Given the description of an element on the screen output the (x, y) to click on. 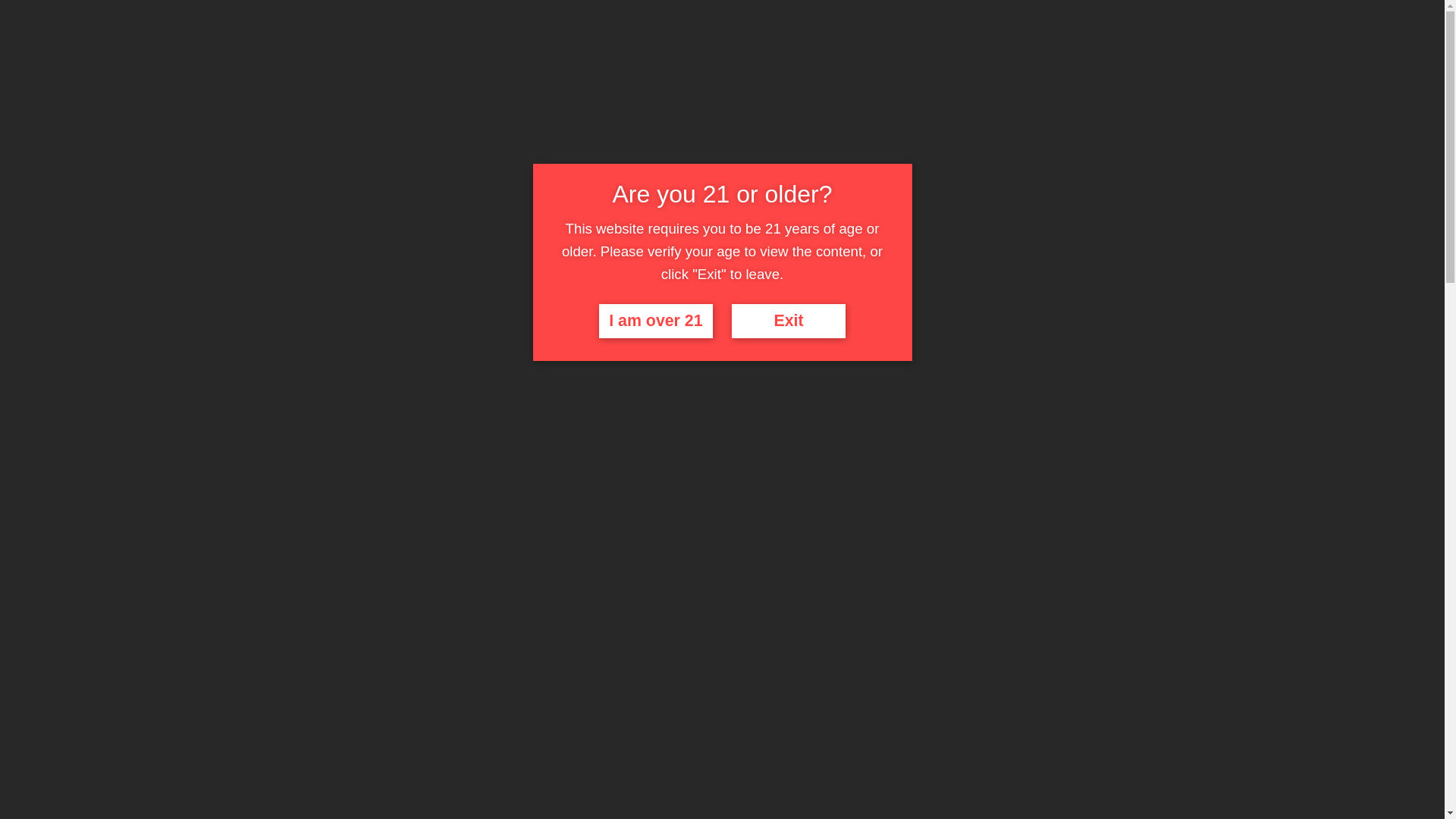
I am over 21 Element type: text (655, 321)
EroBuzz Element type: text (118, 20)
Search Element type: text (882, 24)
Exit Element type: text (788, 321)
Top Element type: text (104, 58)
